Given the description of an element on the screen output the (x, y) to click on. 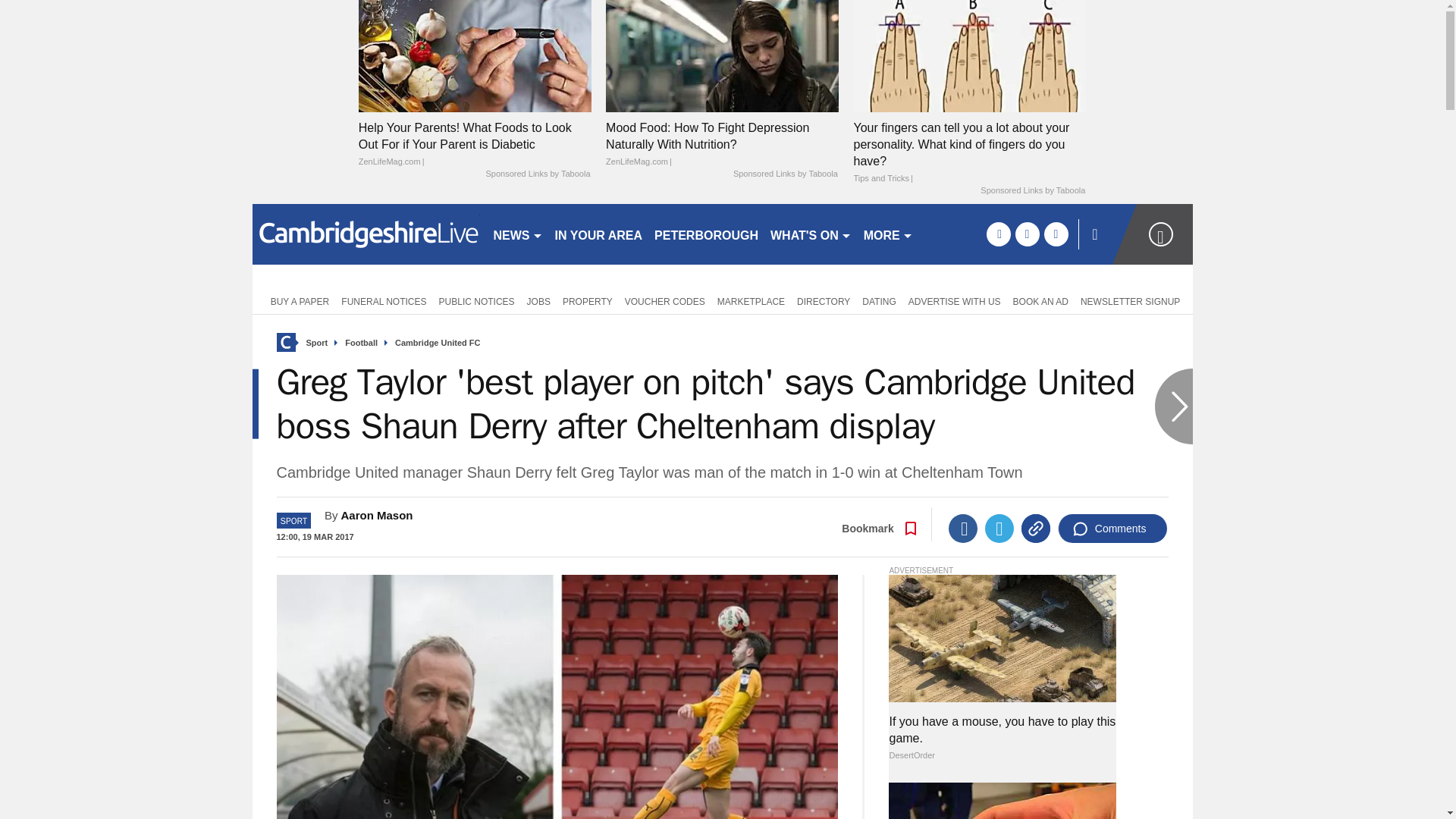
NEWS (517, 233)
facebook (997, 233)
Comments (1112, 528)
Twitter (999, 528)
Sponsored Links by Taboola (1031, 190)
instagram (1055, 233)
Sponsored Links by Taboola (785, 174)
twitter (1026, 233)
Mood Food: How To Fight Depression Naturally With Nutrition? (721, 55)
PETERBOROUGH (705, 233)
cambridgenews (365, 233)
Mood Food: How To Fight Depression Naturally With Nutrition? (721, 144)
